Given the description of an element on the screen output the (x, y) to click on. 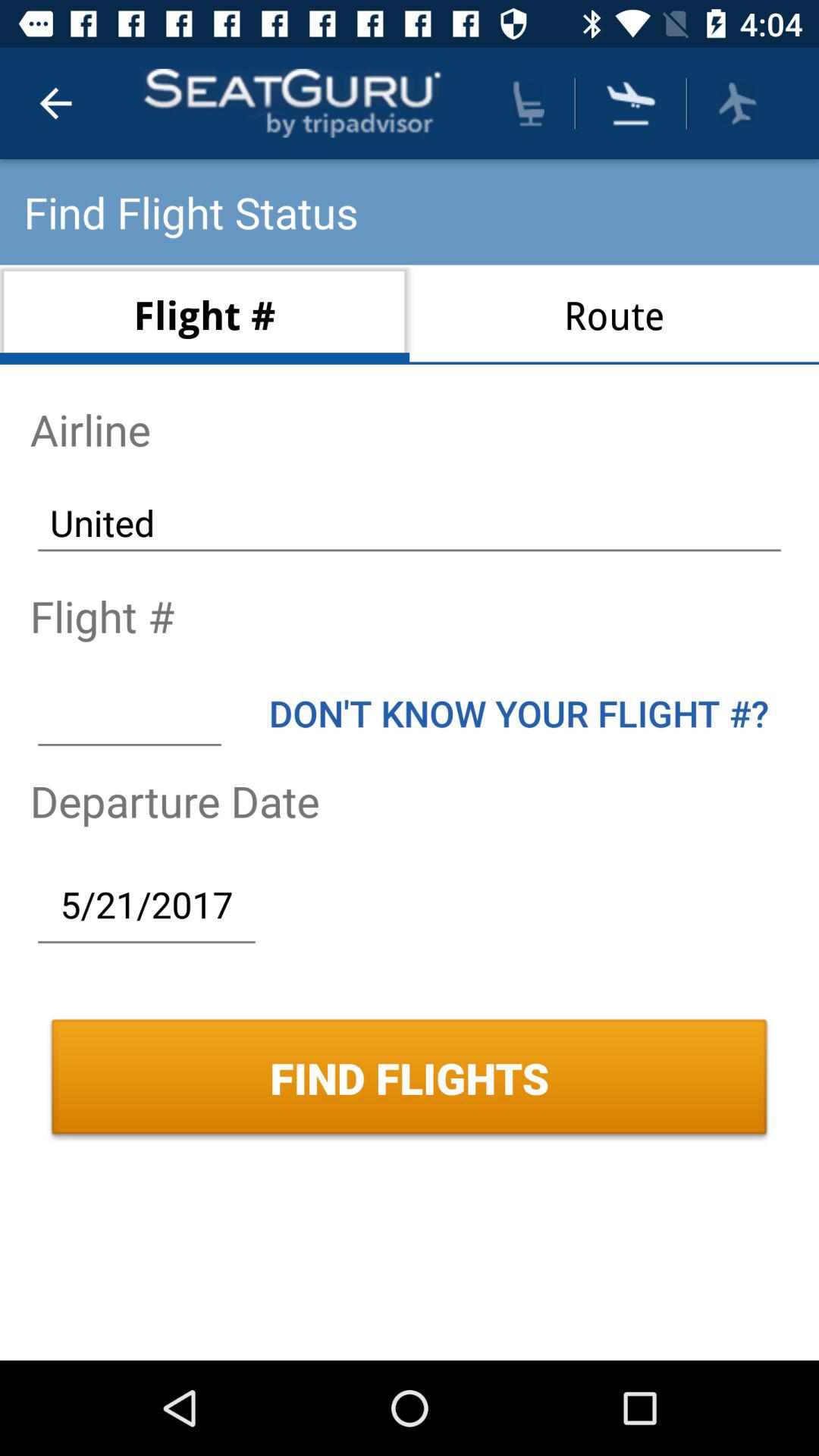
enter flight name (129, 712)
